Given the description of an element on the screen output the (x, y) to click on. 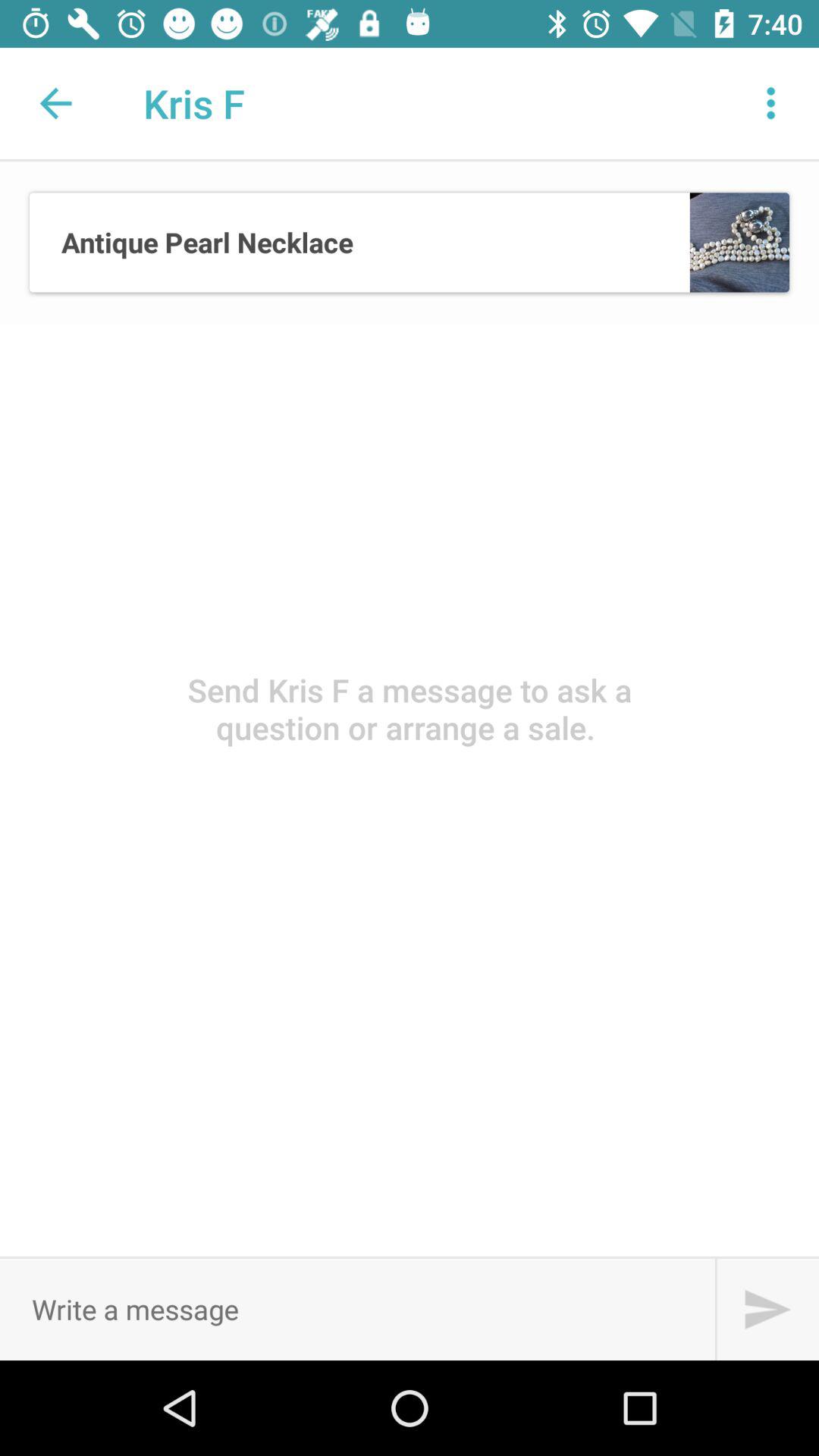
select the icon to the right of kris f item (771, 103)
